Given the description of an element on the screen output the (x, y) to click on. 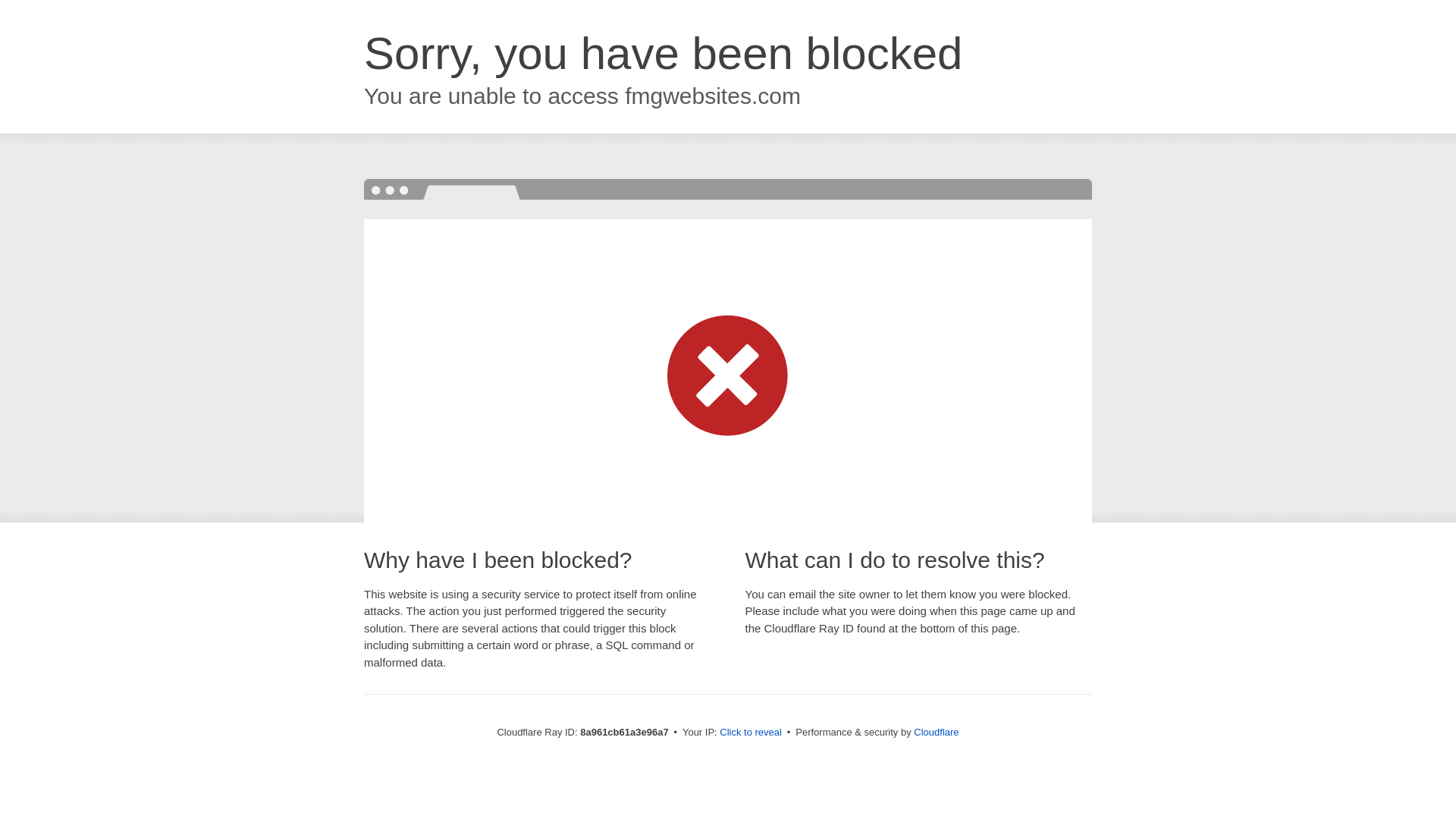
Click to reveal (750, 732)
Cloudflare (936, 731)
